Given the description of an element on the screen output the (x, y) to click on. 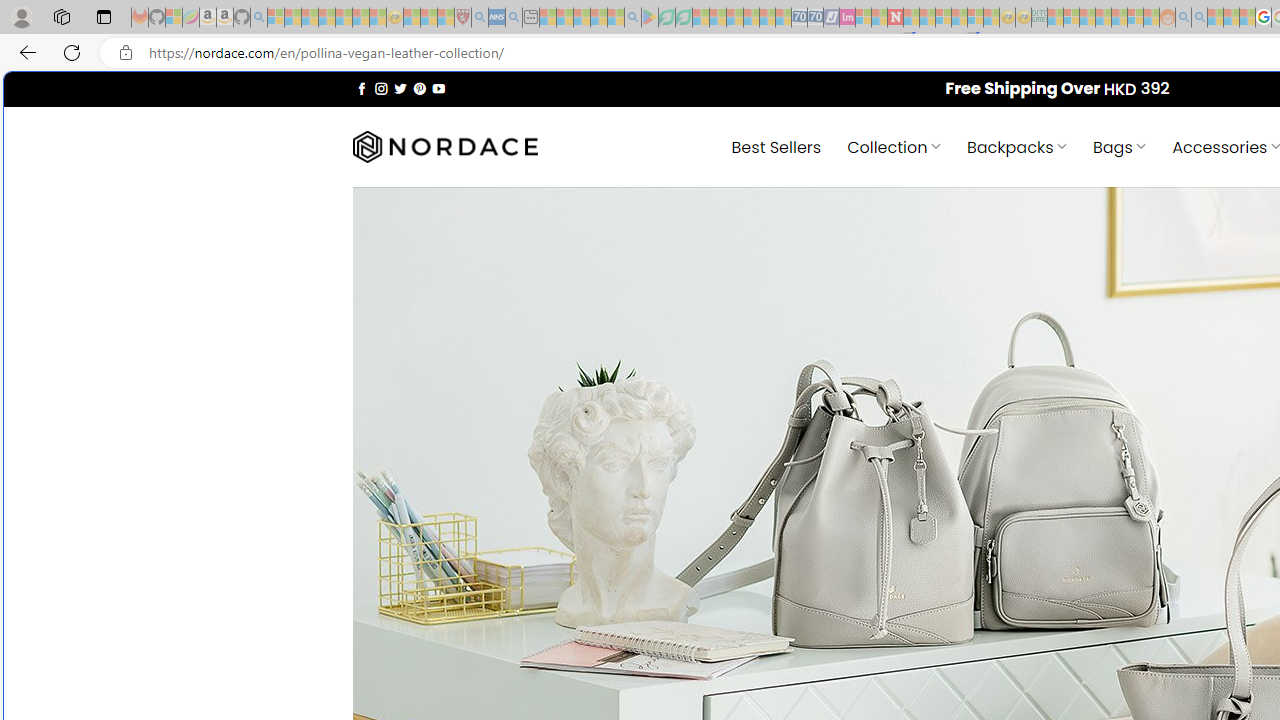
Expert Portfolios - Sleeping (1103, 17)
Follow on YouTube (438, 88)
Bluey: Let's Play! - Apps on Google Play - Sleeping (649, 17)
Follow on Facebook (361, 88)
